Given the description of an element on the screen output the (x, y) to click on. 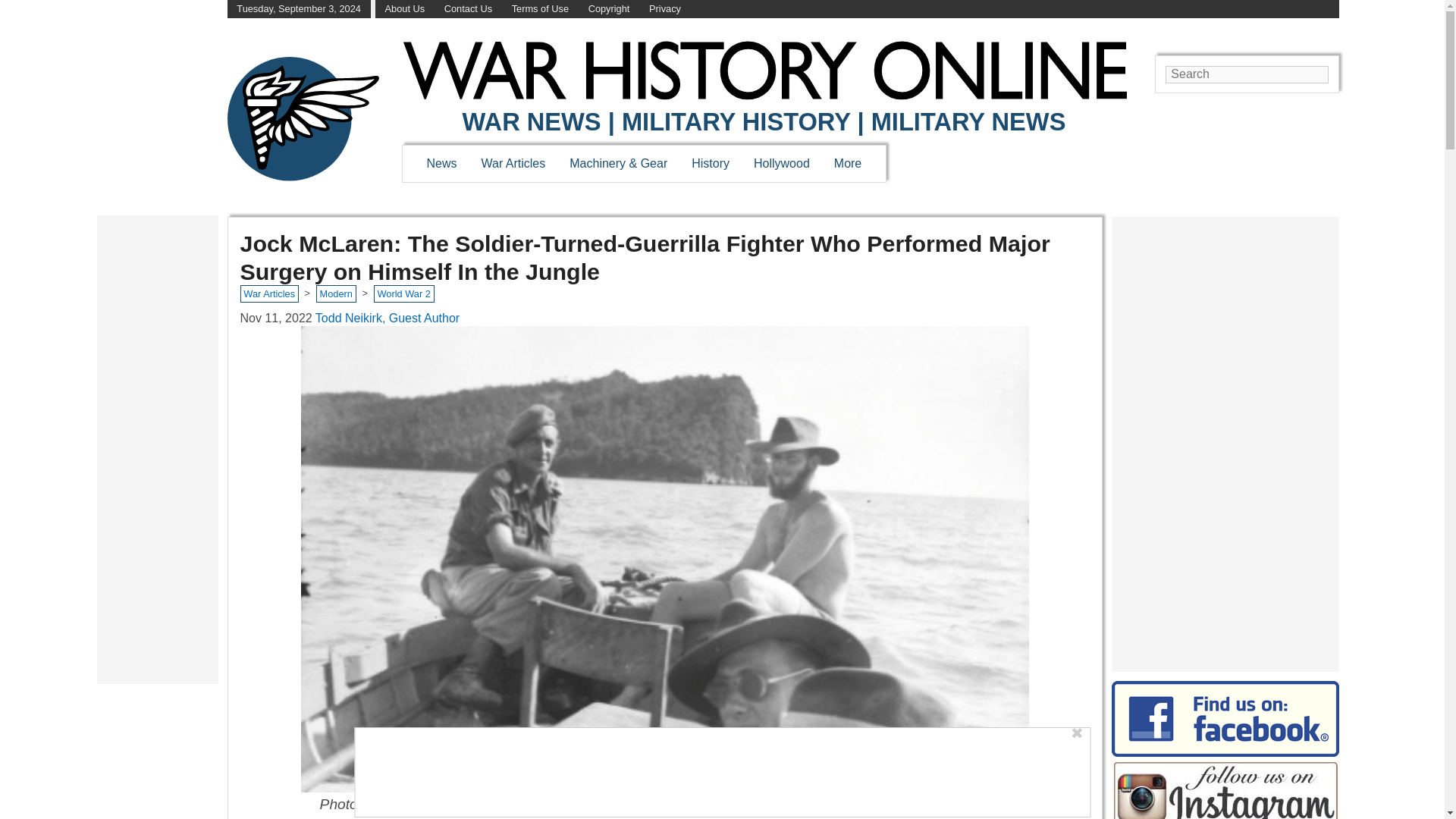
Terms of Use (540, 8)
About Us (405, 8)
Privacy (665, 8)
Hollywood (781, 163)
War Articles (513, 163)
Copyright (609, 8)
Contact Us (468, 8)
History (710, 163)
News (441, 163)
More (847, 163)
